Given the description of an element on the screen output the (x, y) to click on. 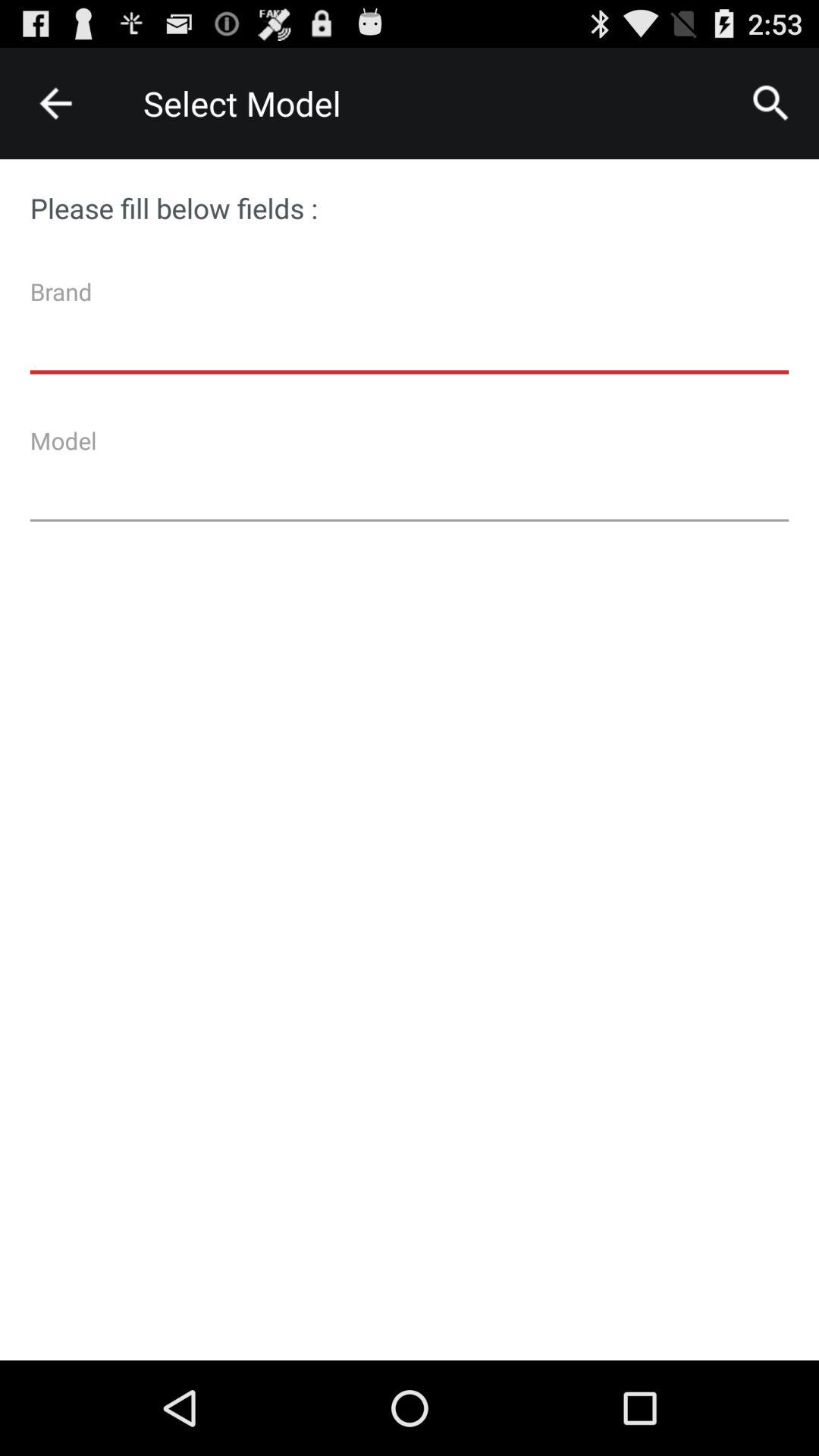
press the item below the please fill below item (409, 331)
